Given the description of an element on the screen output the (x, y) to click on. 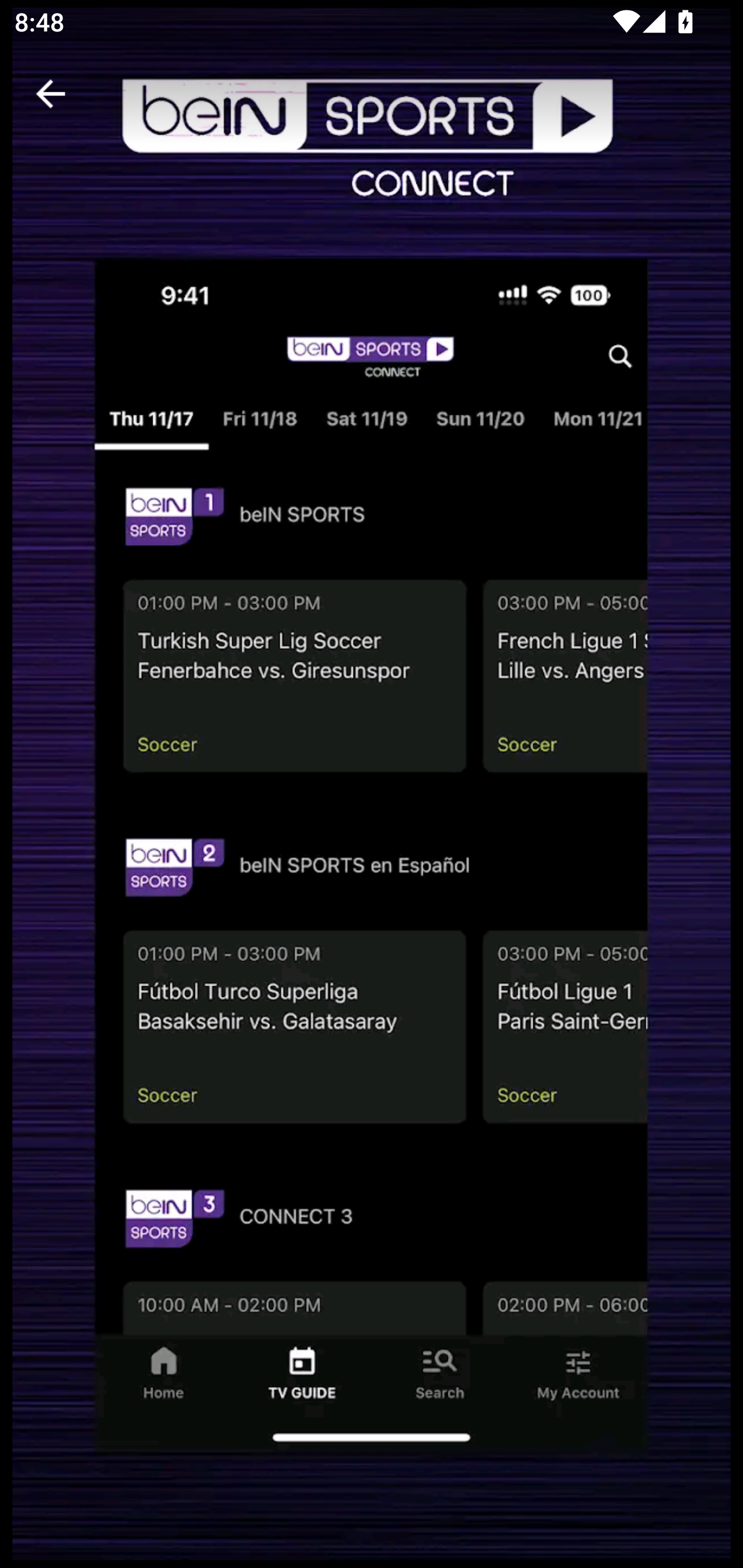
Back (50, 93)
